Given the description of an element on the screen output the (x, y) to click on. 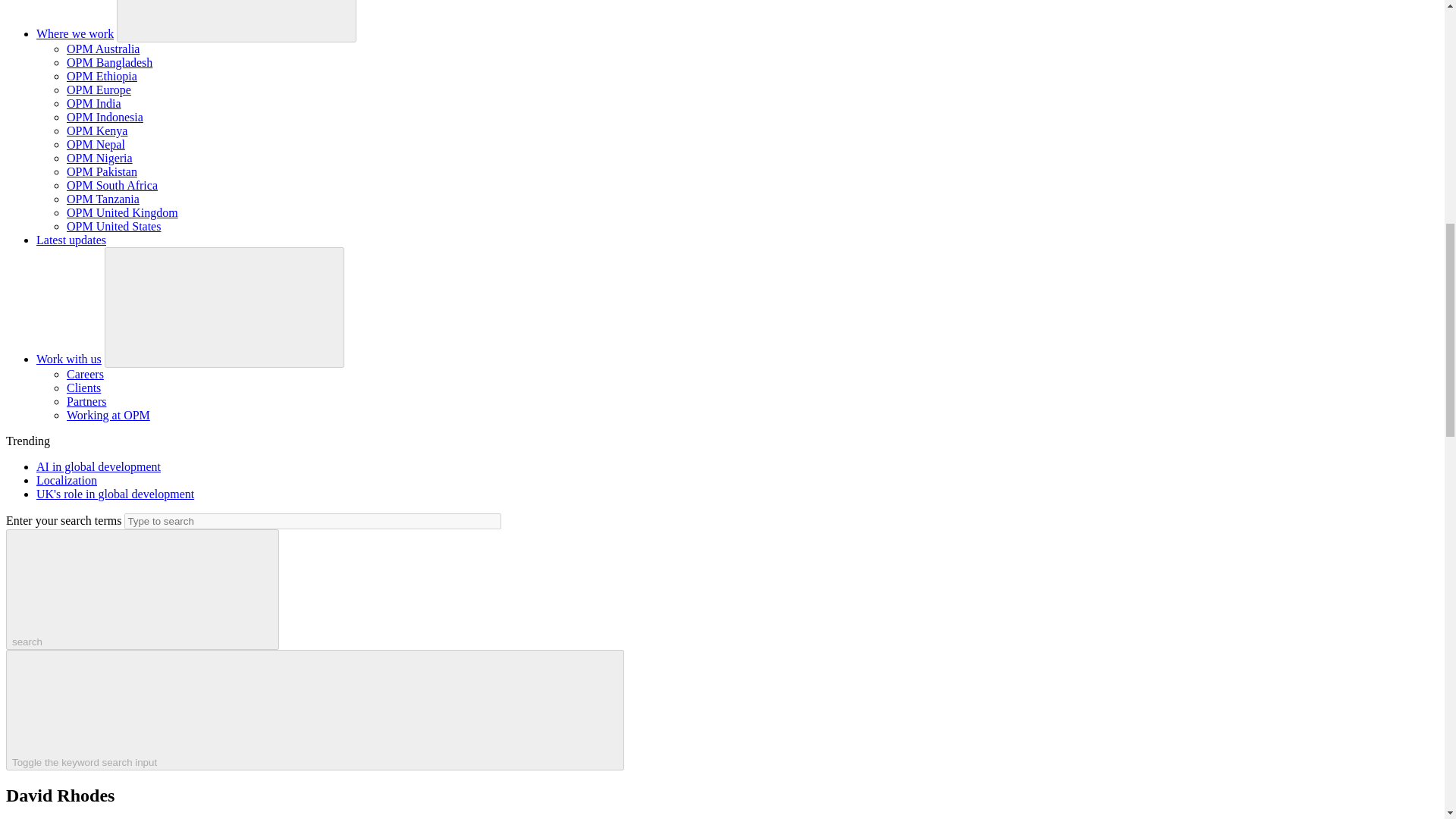
OPM United Kingdom (121, 212)
OPM Kenya (97, 130)
OPM India (93, 103)
Our latest insights, publications, podcasts, and events. (71, 239)
OPM Australia (102, 48)
OPM South Africa (111, 185)
OPM Europe (98, 89)
OPM Nepal (95, 144)
OPM Nigeria (99, 157)
OPM Pakistan (101, 171)
